Given the description of an element on the screen output the (x, y) to click on. 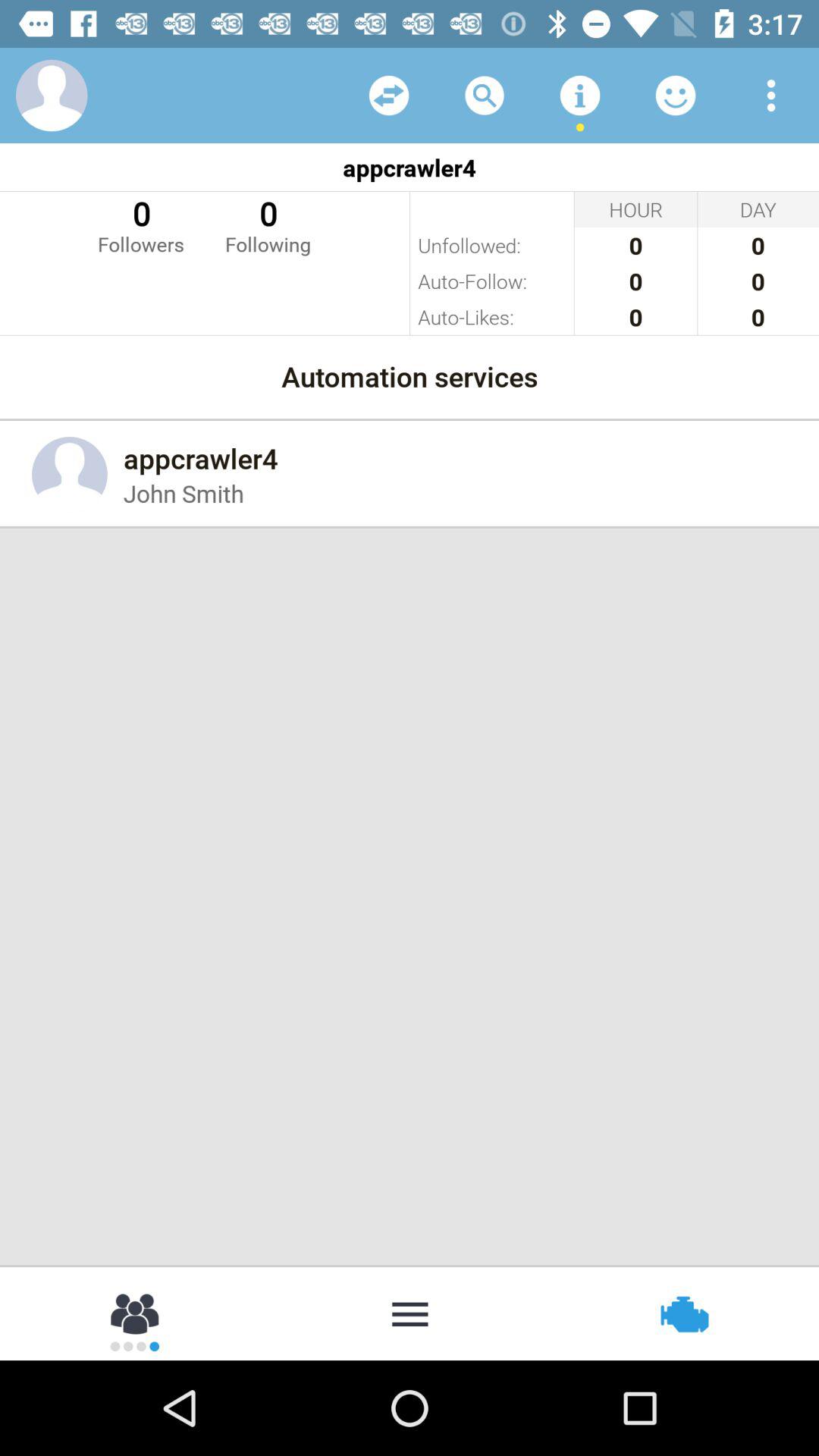
choose the 0
following (268, 224)
